Given the description of an element on the screen output the (x, y) to click on. 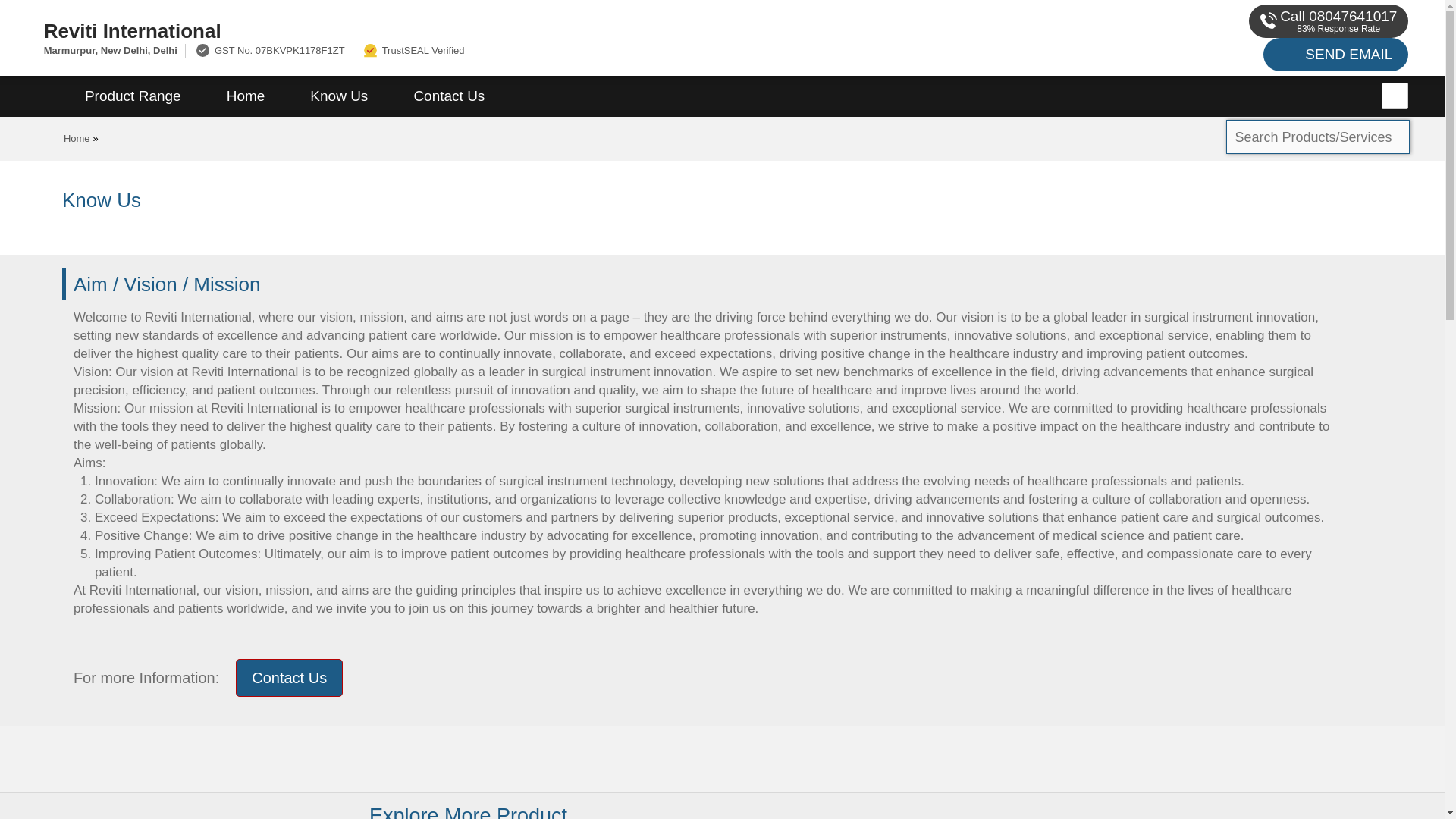
Product Range (132, 96)
Home (245, 96)
Reviti International (480, 31)
Know Us (338, 96)
